Given the description of an element on the screen output the (x, y) to click on. 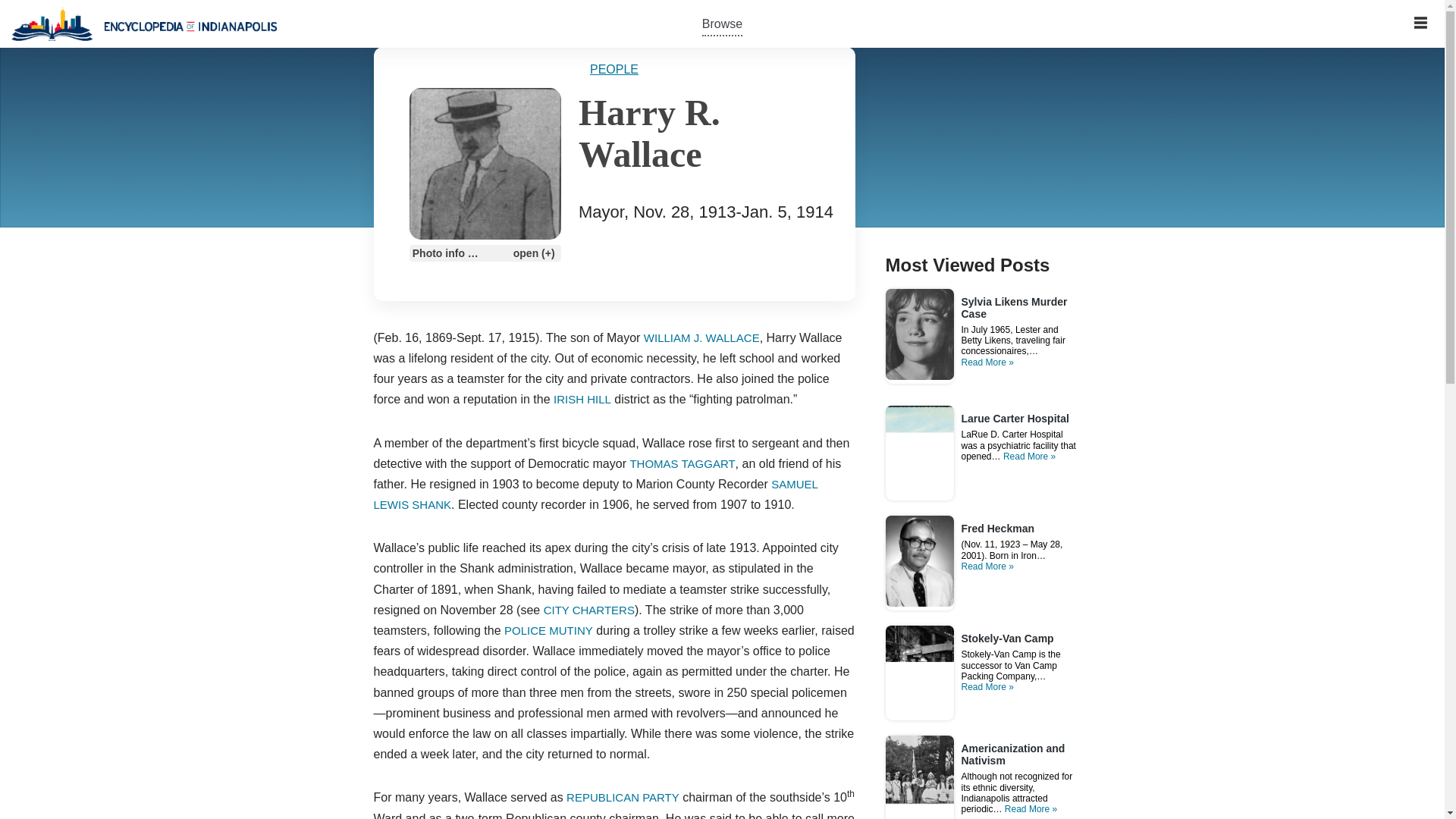
PEOPLE (614, 69)
Browse (721, 23)
Sylvia Likens Murder Case (1020, 314)
Encyclopedia of Indianapolis (143, 23)
Skip to content (11, 31)
Larue Carter Hospital (1014, 419)
